Given the description of an element on the screen output the (x, y) to click on. 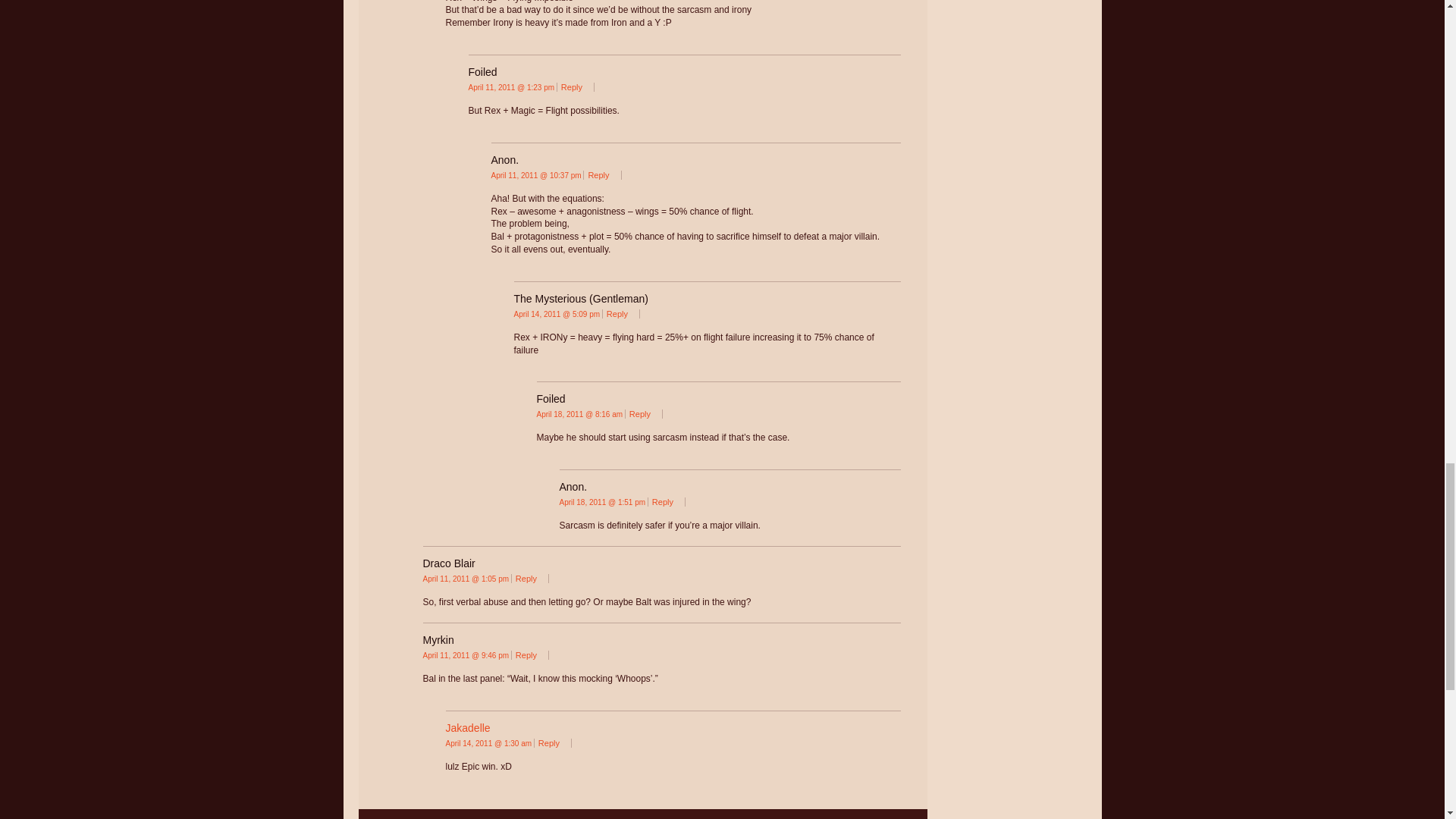
Reply (575, 86)
Reply (621, 313)
Reply (666, 501)
Reply (643, 413)
Reply (602, 174)
